Given the description of an element on the screen output the (x, y) to click on. 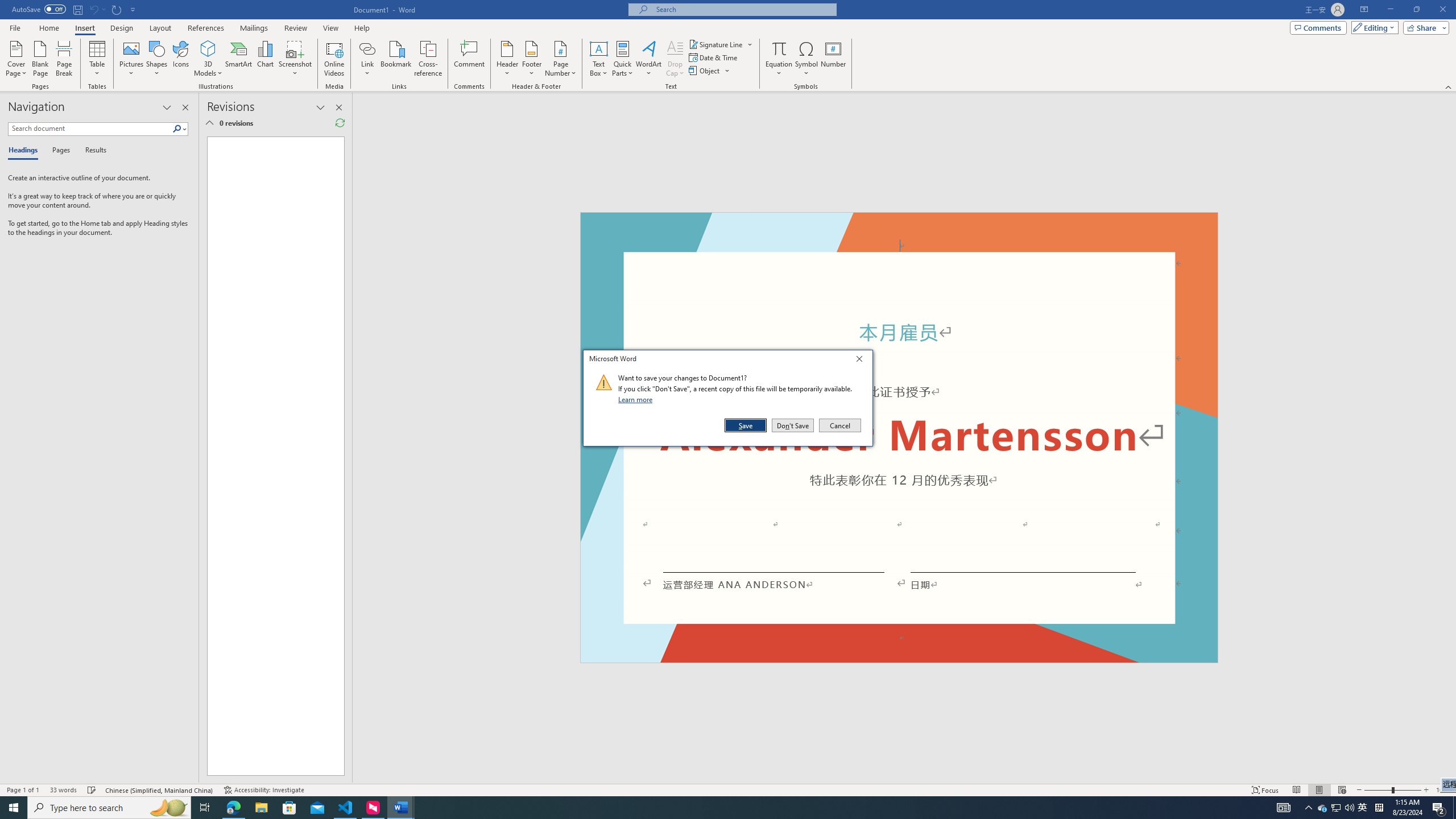
Cover Page (16, 58)
Header (507, 58)
Search (1322, 807)
Accessibility Checker Accessibility: Investigate (177, 128)
Mode (263, 790)
3D Models (1372, 27)
Learn more (208, 58)
Object... (636, 399)
Equation (705, 69)
Online Videos... (778, 58)
Page Break (333, 58)
Close (63, 58)
Pictures (862, 360)
Search highlights icon opens search home window (131, 58)
